Given the description of an element on the screen output the (x, y) to click on. 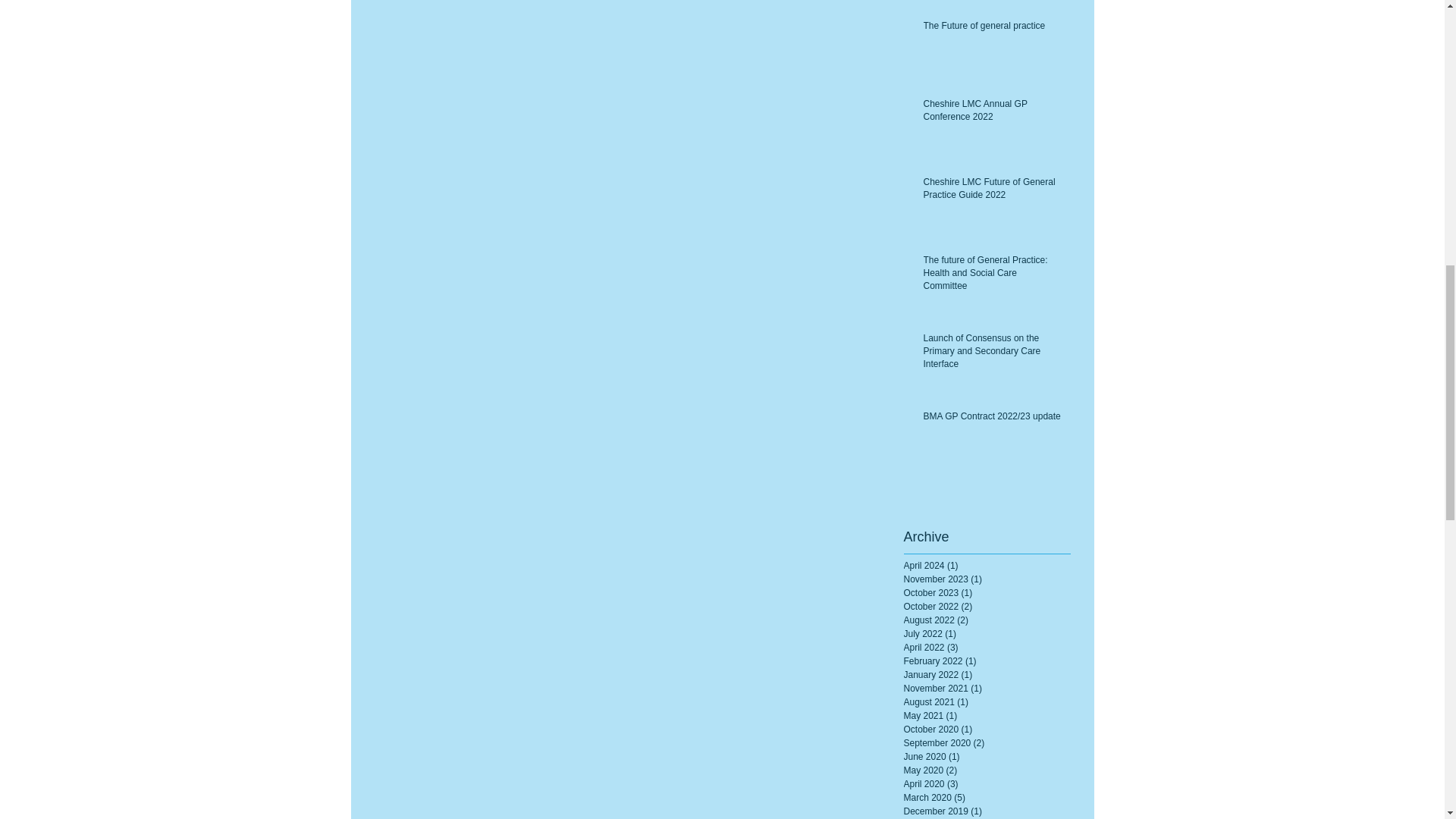
Cheshire LMC Annual GP Conference 2022 (992, 113)
Cheshire LMC Future of General Practice Guide 2022 (992, 192)
The Future of general practice (992, 28)
